Given the description of an element on the screen output the (x, y) to click on. 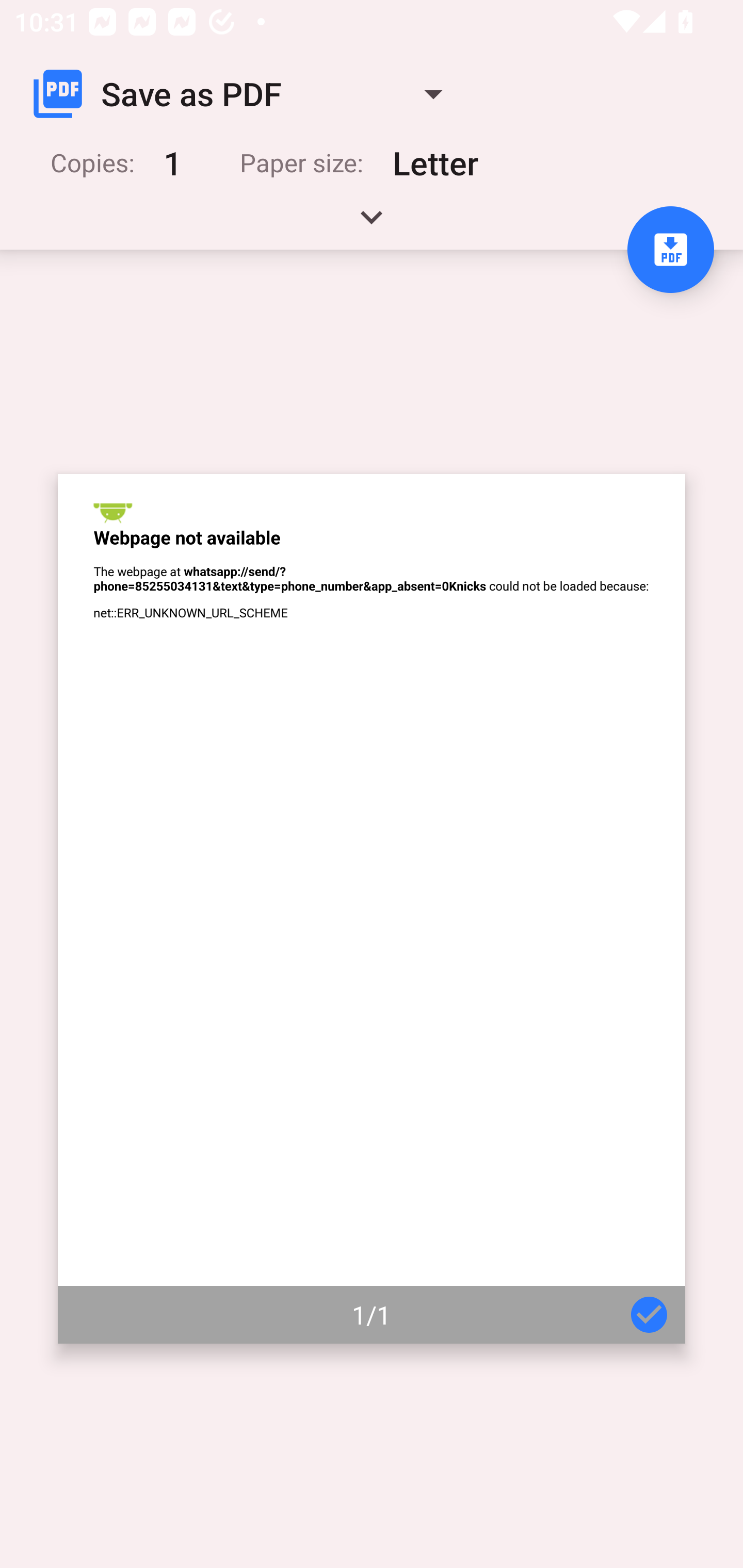
Save as PDF (245, 93)
Expand handle (371, 224)
Save to PDF (670, 249)
Page 1 of 1 1/1 (371, 908)
